Given the description of an element on the screen output the (x, y) to click on. 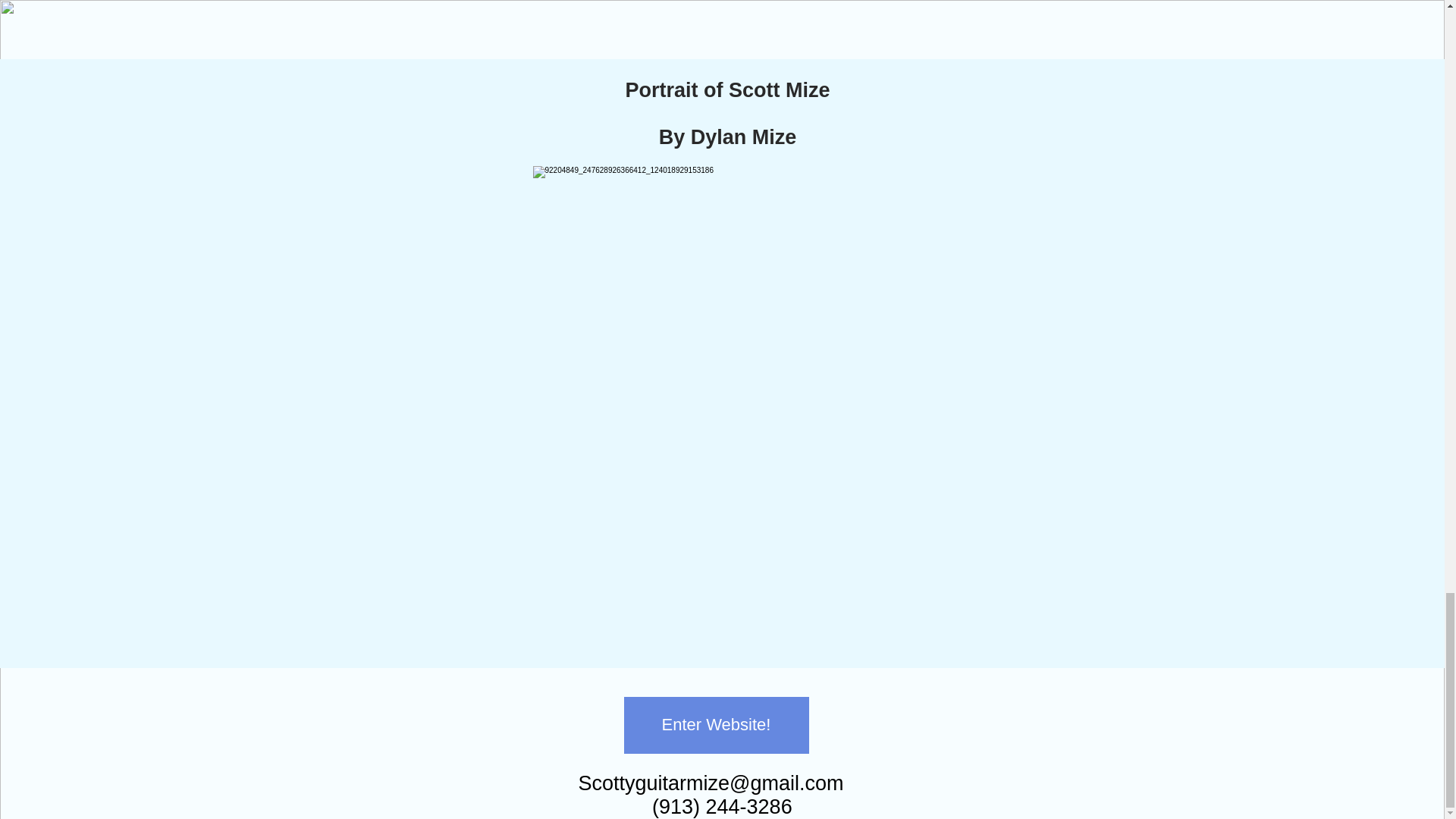
Enter Website! (715, 724)
